Given the description of an element on the screen output the (x, y) to click on. 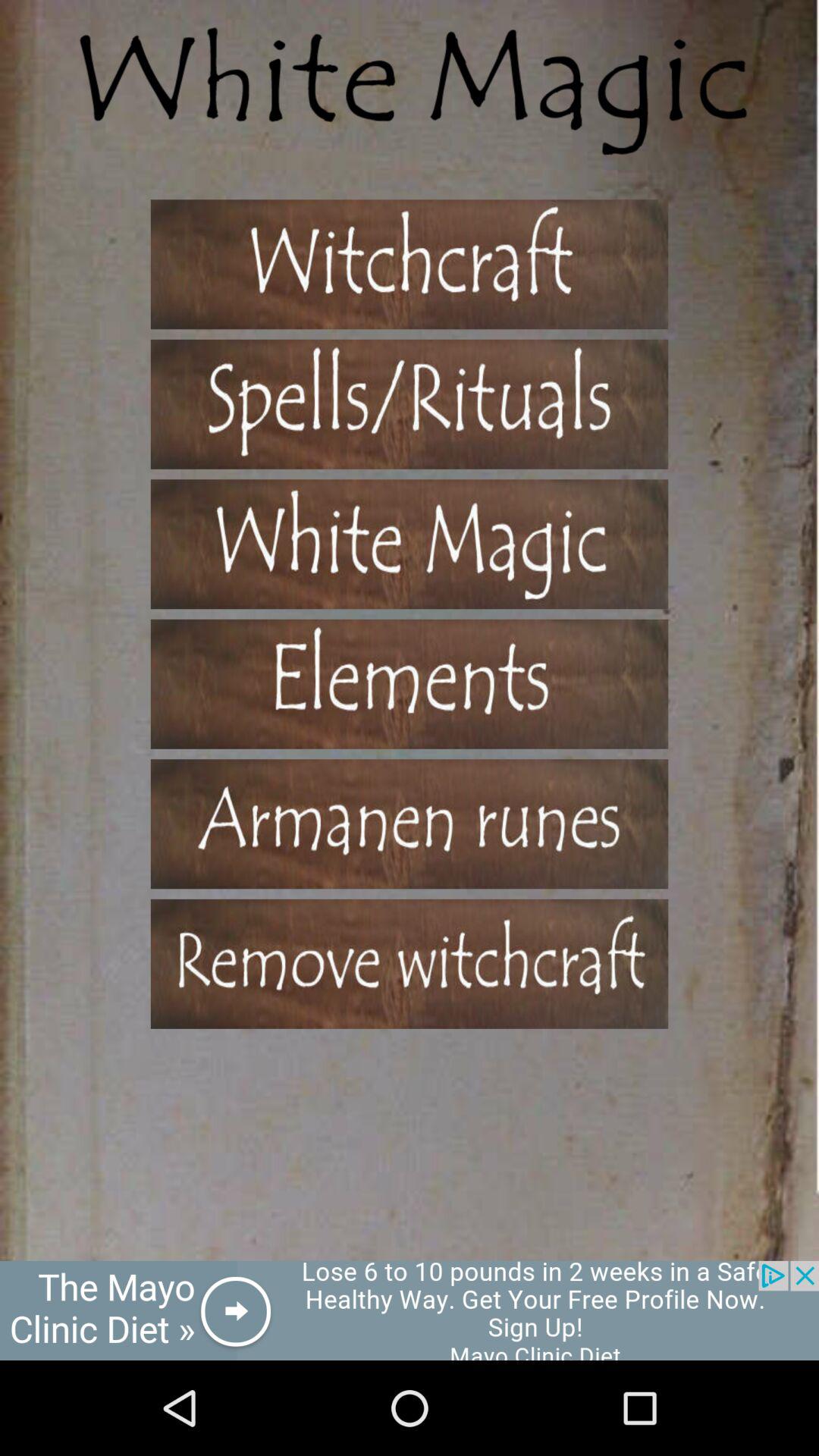
menu selection (409, 823)
